Given the description of an element on the screen output the (x, y) to click on. 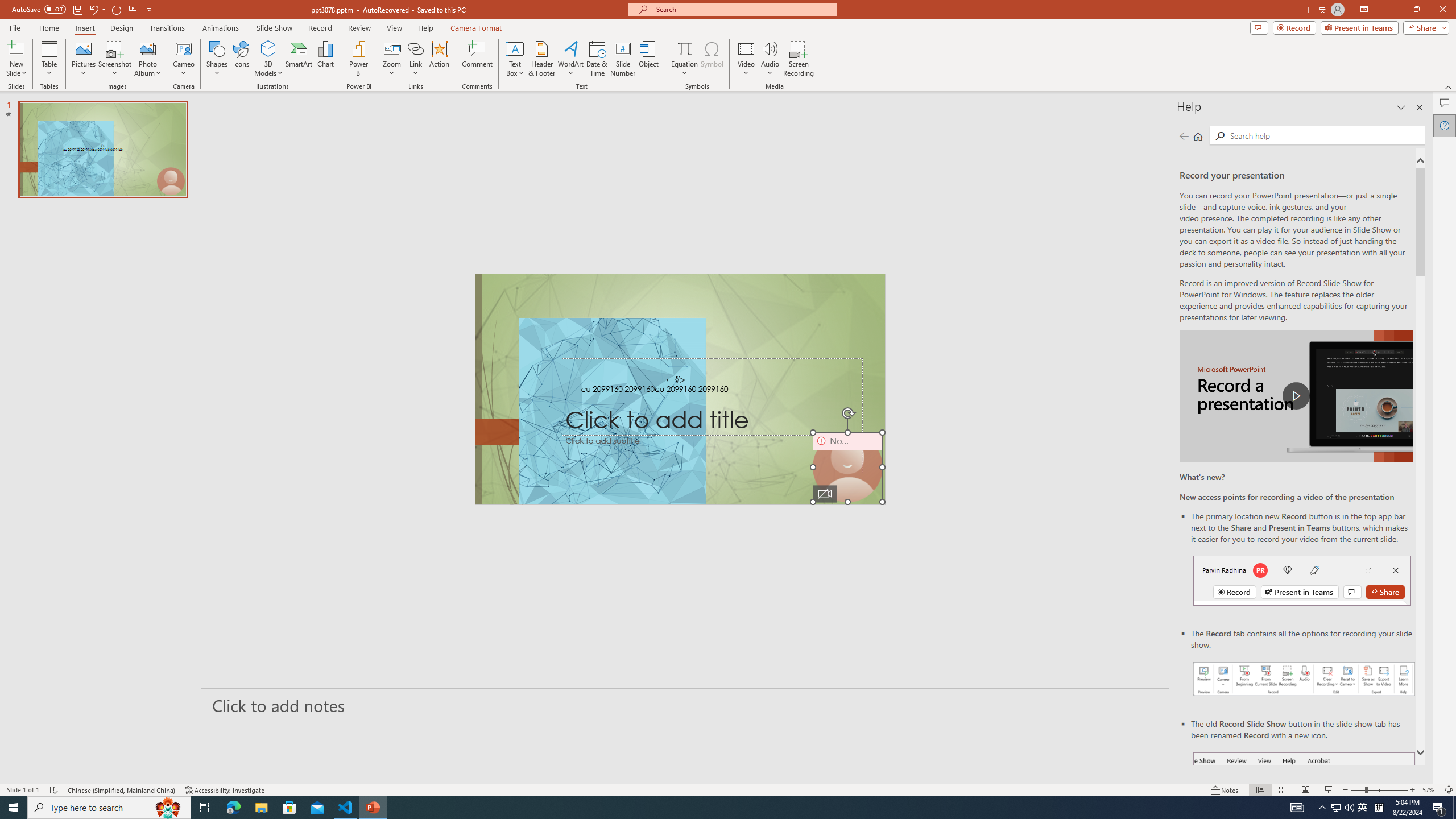
New Photo Album... (147, 48)
Record button in top bar (1301, 580)
